Given the description of an element on the screen output the (x, y) to click on. 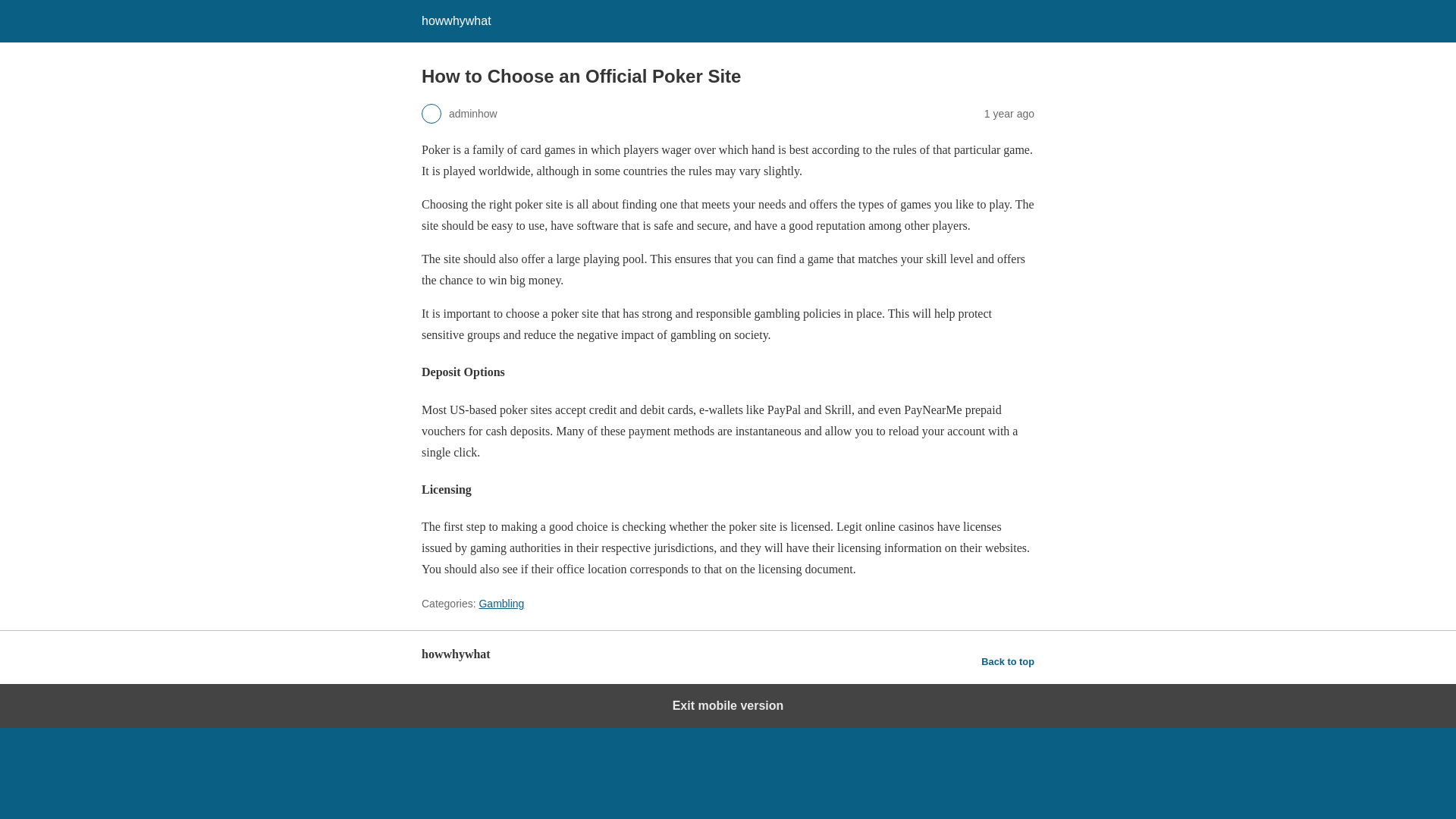
Gambling (501, 603)
howwhywhat (457, 20)
Back to top (1007, 661)
